Given the description of an element on the screen output the (x, y) to click on. 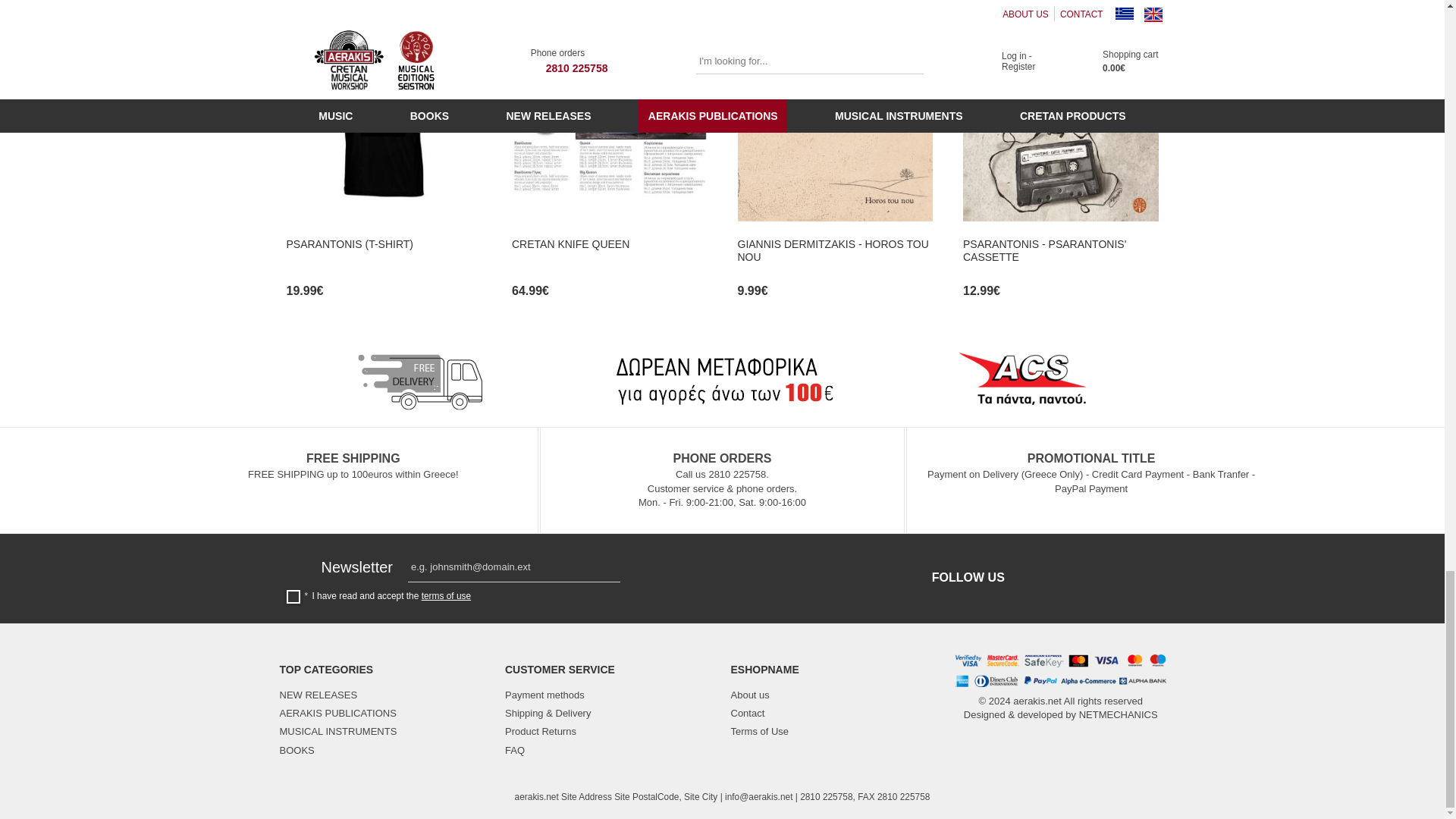
Find us on Instagram (1069, 577)
Connect on LinkedIn (1141, 577)
NETMECHANICS LLC (1117, 714)
Find us on Facebook (1034, 577)
Find us on YouTube (1106, 577)
